Given the description of an element on the screen output the (x, y) to click on. 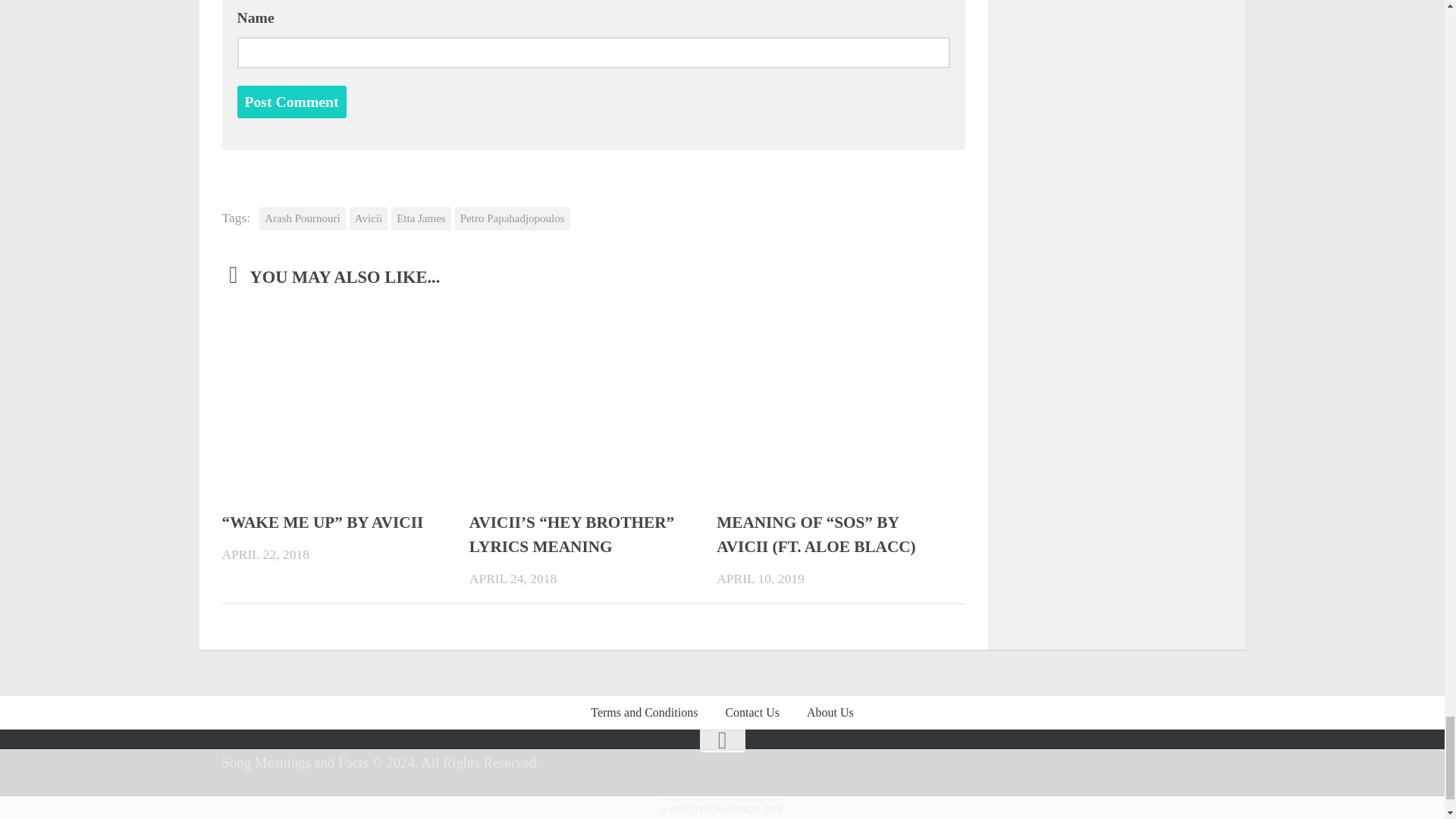
Avicii (368, 218)
Etta James (421, 218)
Post Comment (290, 101)
Post Comment (290, 101)
Arash Pournouri (302, 218)
Petro Papahadjopoulos (512, 218)
